Given the description of an element on the screen output the (x, y) to click on. 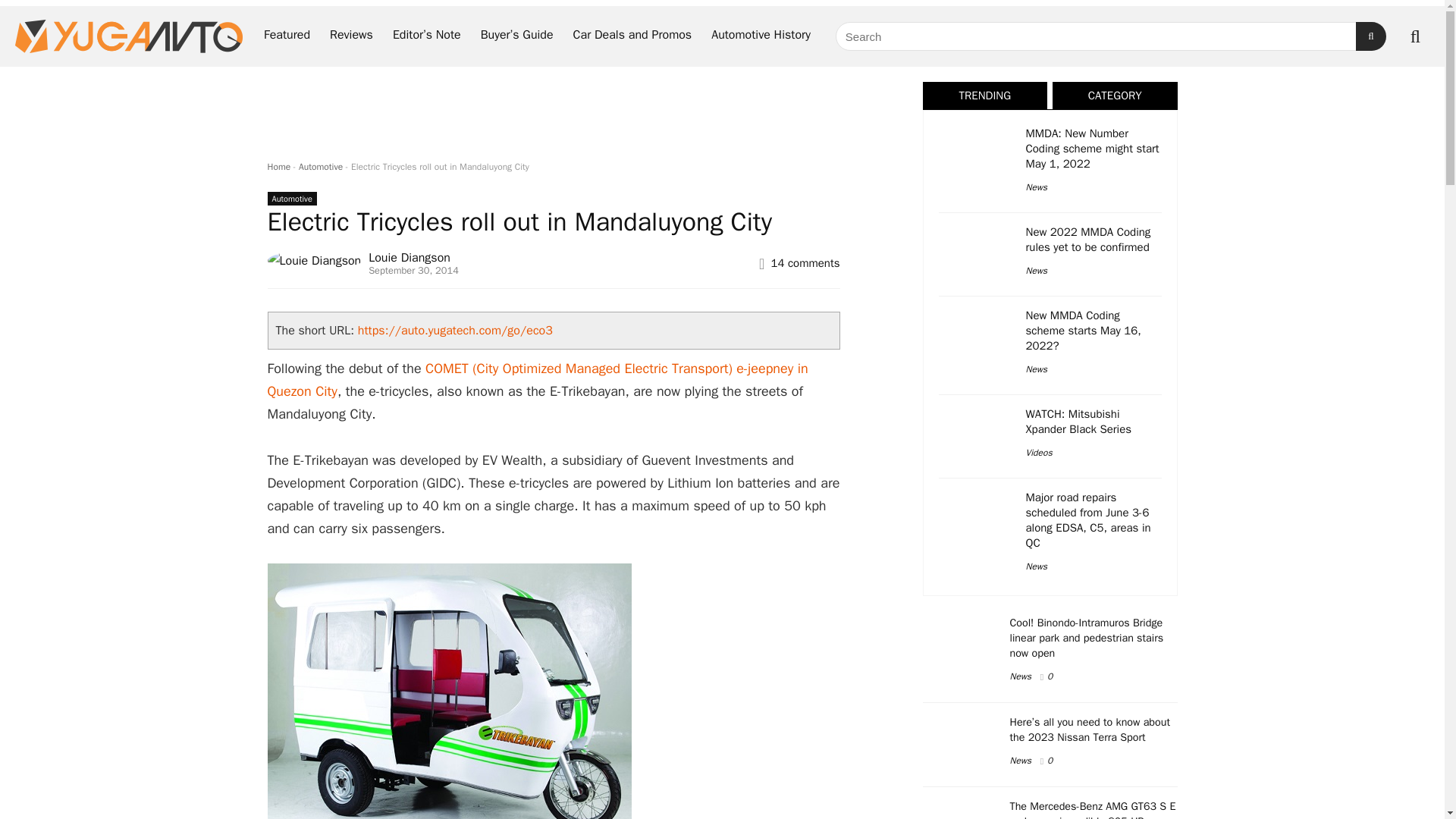
Automotive History (761, 36)
14 comments (805, 263)
Automotive (290, 198)
Featured (286, 36)
Louie Diangson (408, 257)
View all posts in Automotive (290, 198)
Car Deals and Promos (632, 36)
Automotive (320, 166)
Reviews (351, 36)
Home (277, 166)
